Given the description of an element on the screen output the (x, y) to click on. 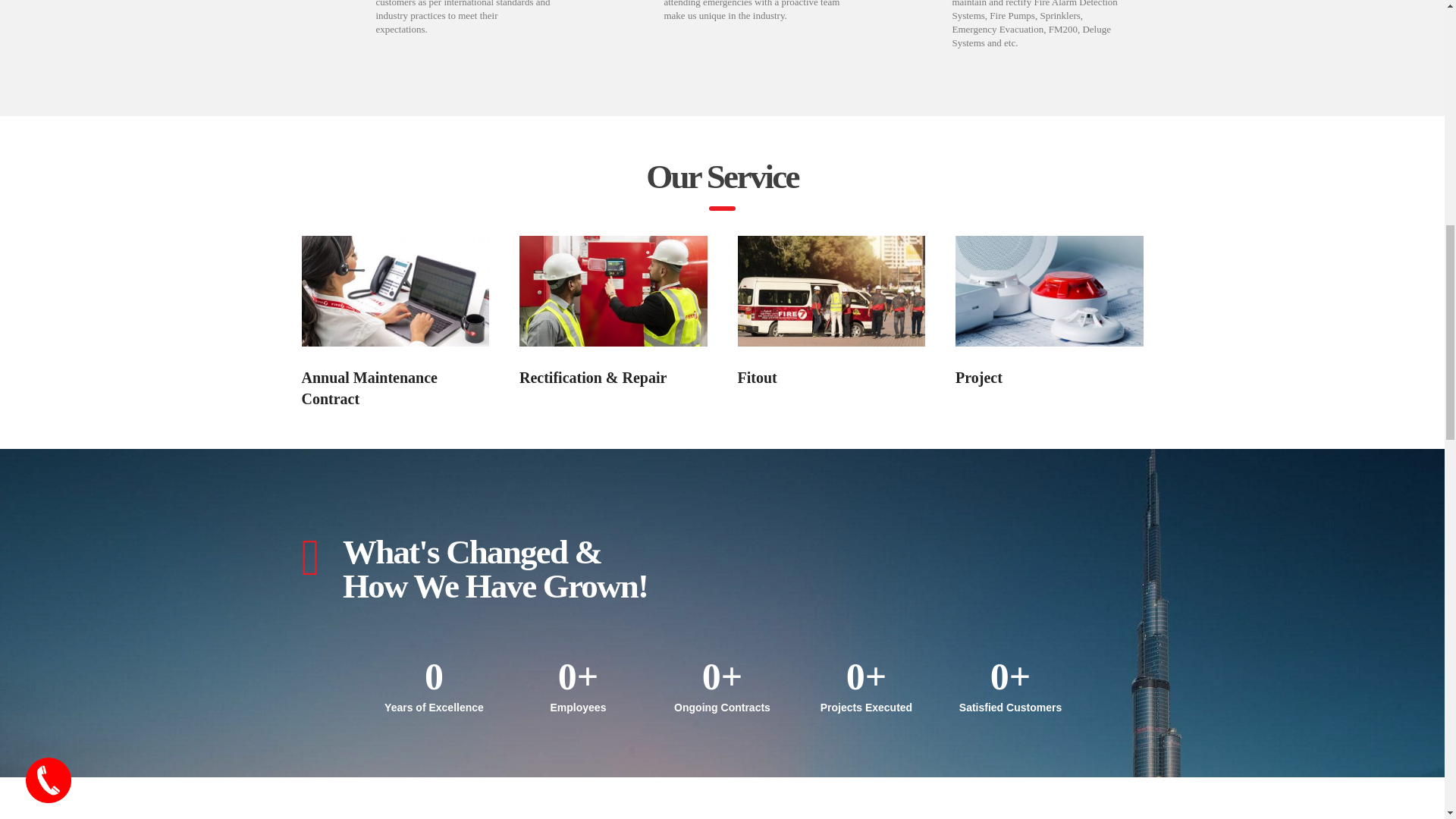
PROJECTS (1048, 290)
Main Slider 1 (395, 290)
AMC (613, 290)
Main Slider 3 (830, 290)
